Given the description of an element on the screen output the (x, y) to click on. 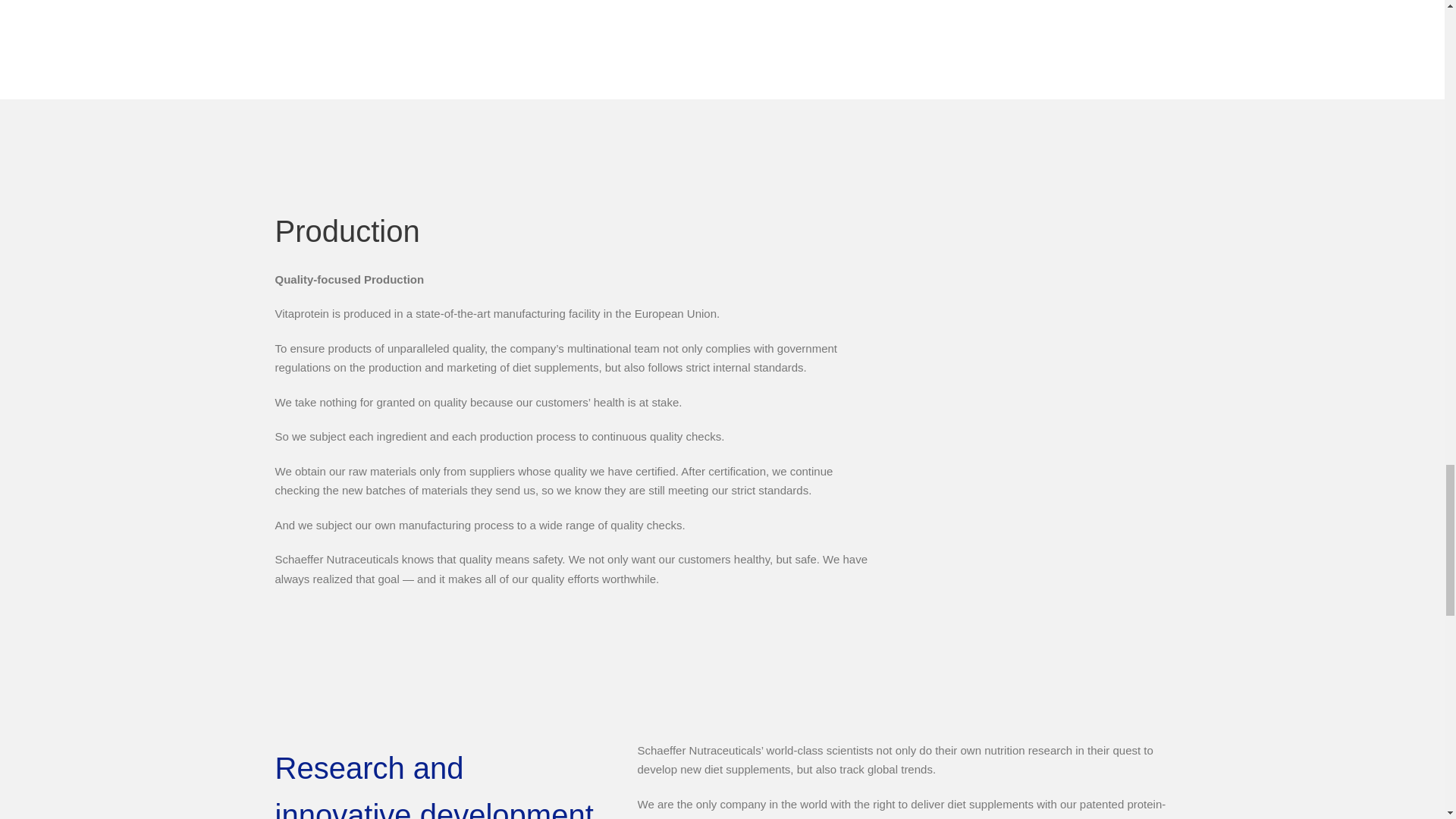
Laborant-1 (1055, 323)
Grafik 2 (725, 30)
film-lab-small (1055, 546)
Grupo-1 (350, 164)
